Given the description of an element on the screen output the (x, y) to click on. 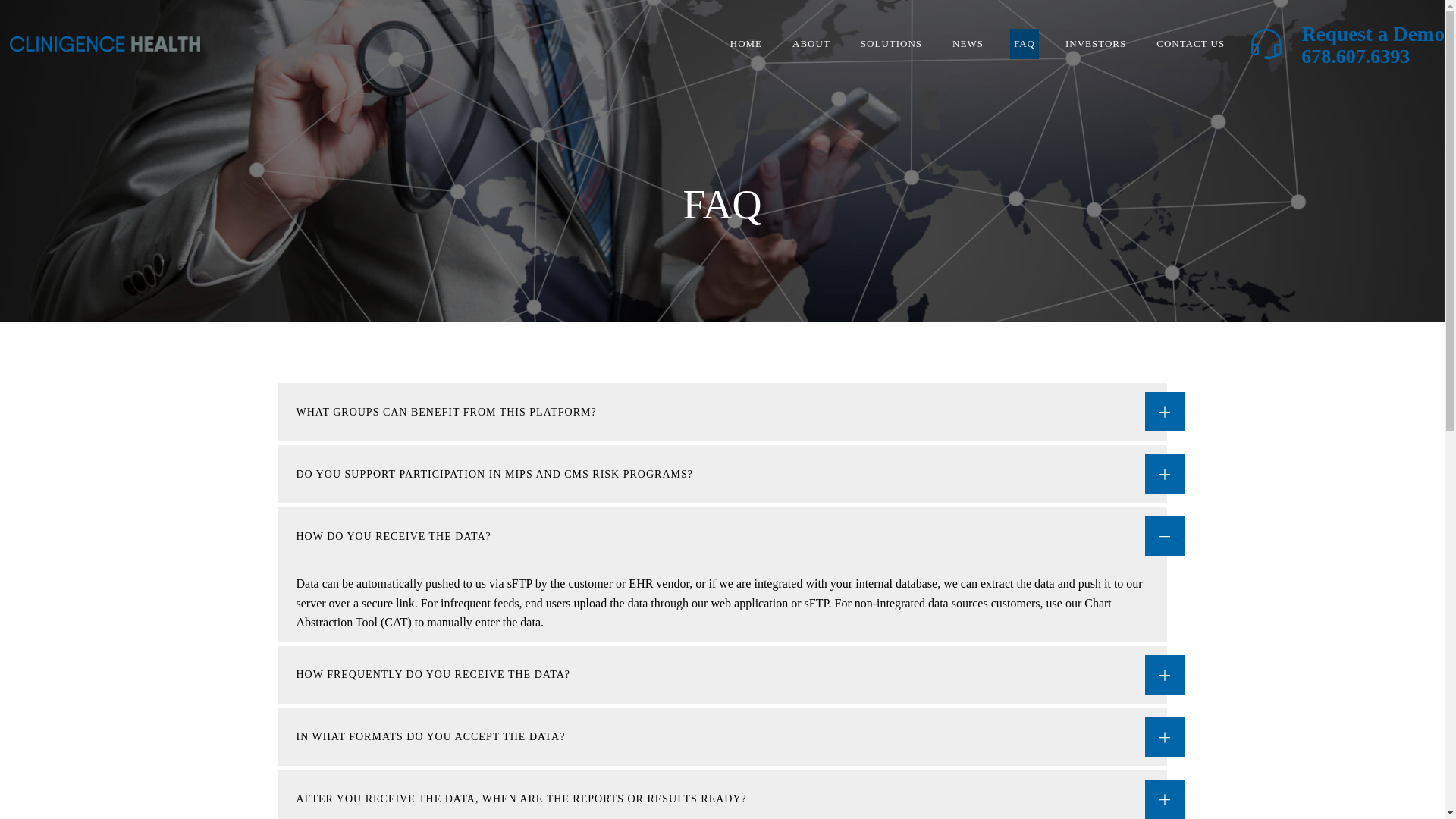
DO YOU SUPPORT PARTICIPATION IN MIPS AND CMS RISK PROGRAMS? (722, 473)
IN WHAT FORMATS DO YOU ACCEPT THE DATA? (722, 736)
HOME (745, 43)
ABOUT (810, 43)
FAQ (1024, 43)
INVESTORS (1095, 43)
NEWS (968, 43)
HOW DO YOU RECEIVE THE DATA? (722, 535)
SOLUTIONS (890, 43)
678.607.6393 (1355, 56)
HOW FREQUENTLY DO YOU RECEIVE THE DATA? (722, 674)
CONTACT US (1190, 43)
WHAT GROUPS CAN BENEFIT FROM THIS PLATFORM? (722, 411)
